Given the description of an element on the screen output the (x, y) to click on. 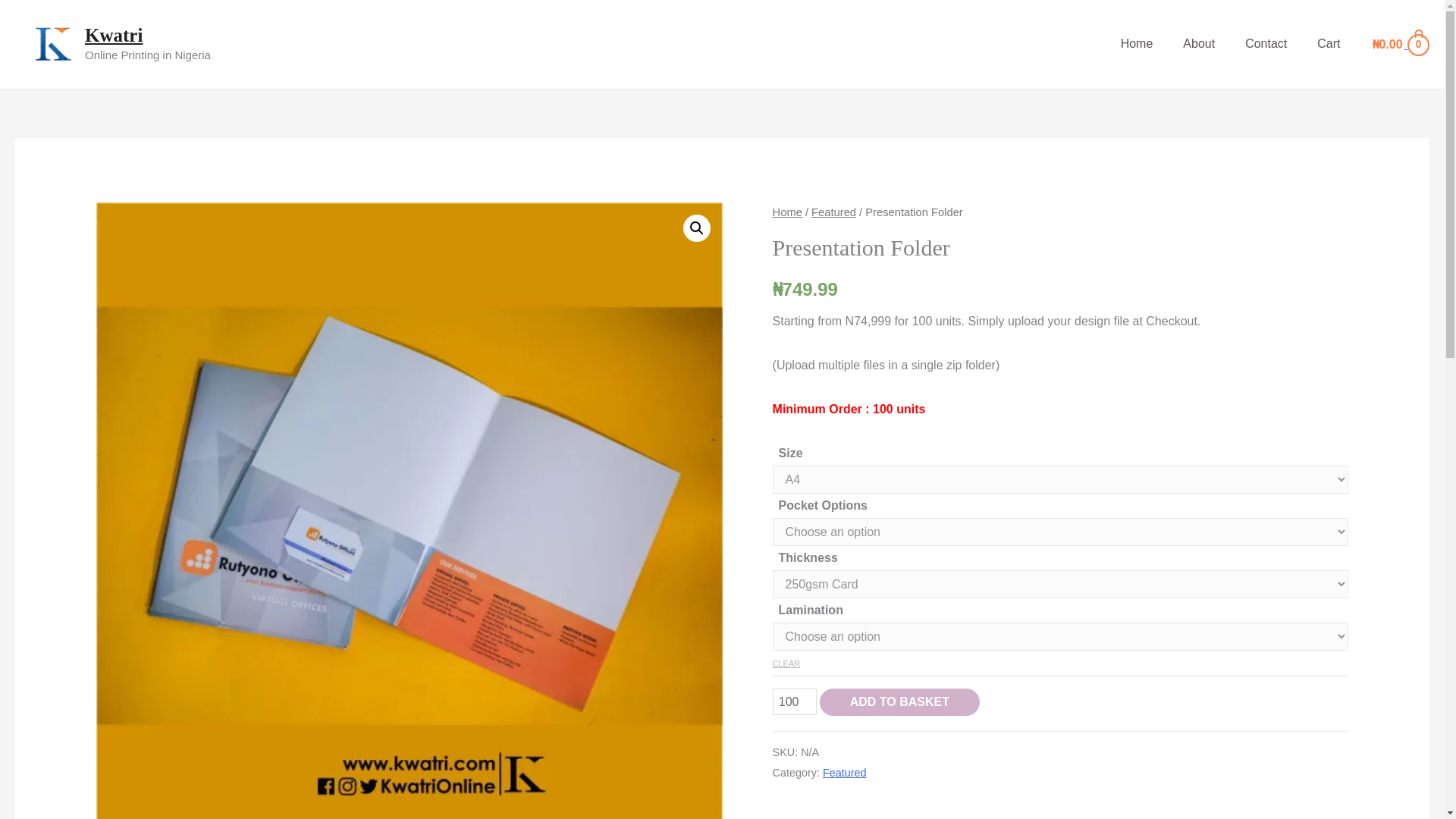
Home (787, 212)
View your shopping basket (1400, 43)
Home (1137, 43)
Cart (1328, 43)
CLEAR (786, 663)
About (1198, 43)
100 (794, 701)
Qty (794, 701)
Kwatri (113, 35)
ADD TO BASKET (899, 701)
Featured (833, 212)
Featured (844, 772)
Contact (1265, 43)
